Given the description of an element on the screen output the (x, y) to click on. 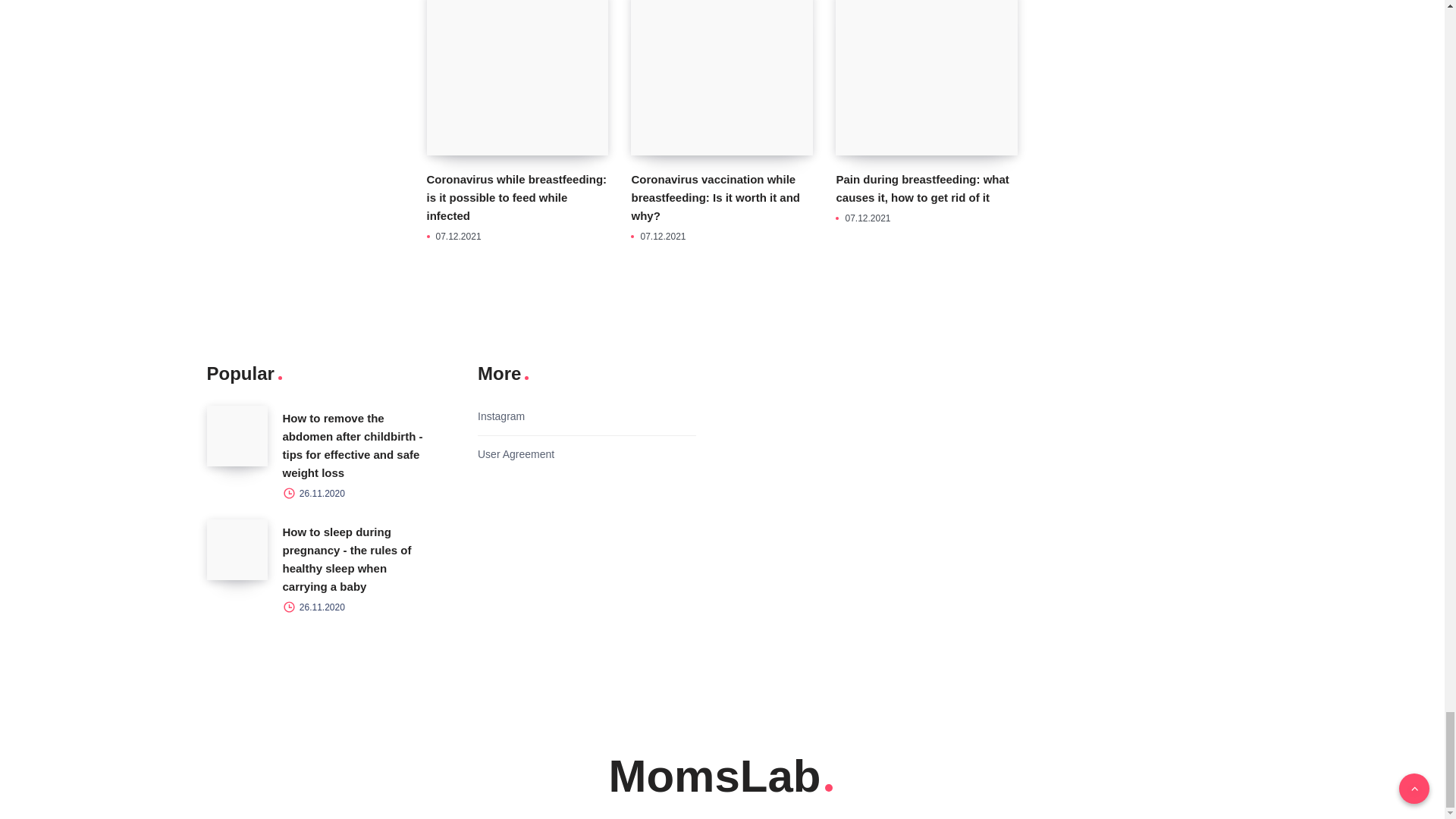
GooglePlay (533, 541)
AppGallery (533, 578)
AppStore (533, 504)
